Given the description of an element on the screen output the (x, y) to click on. 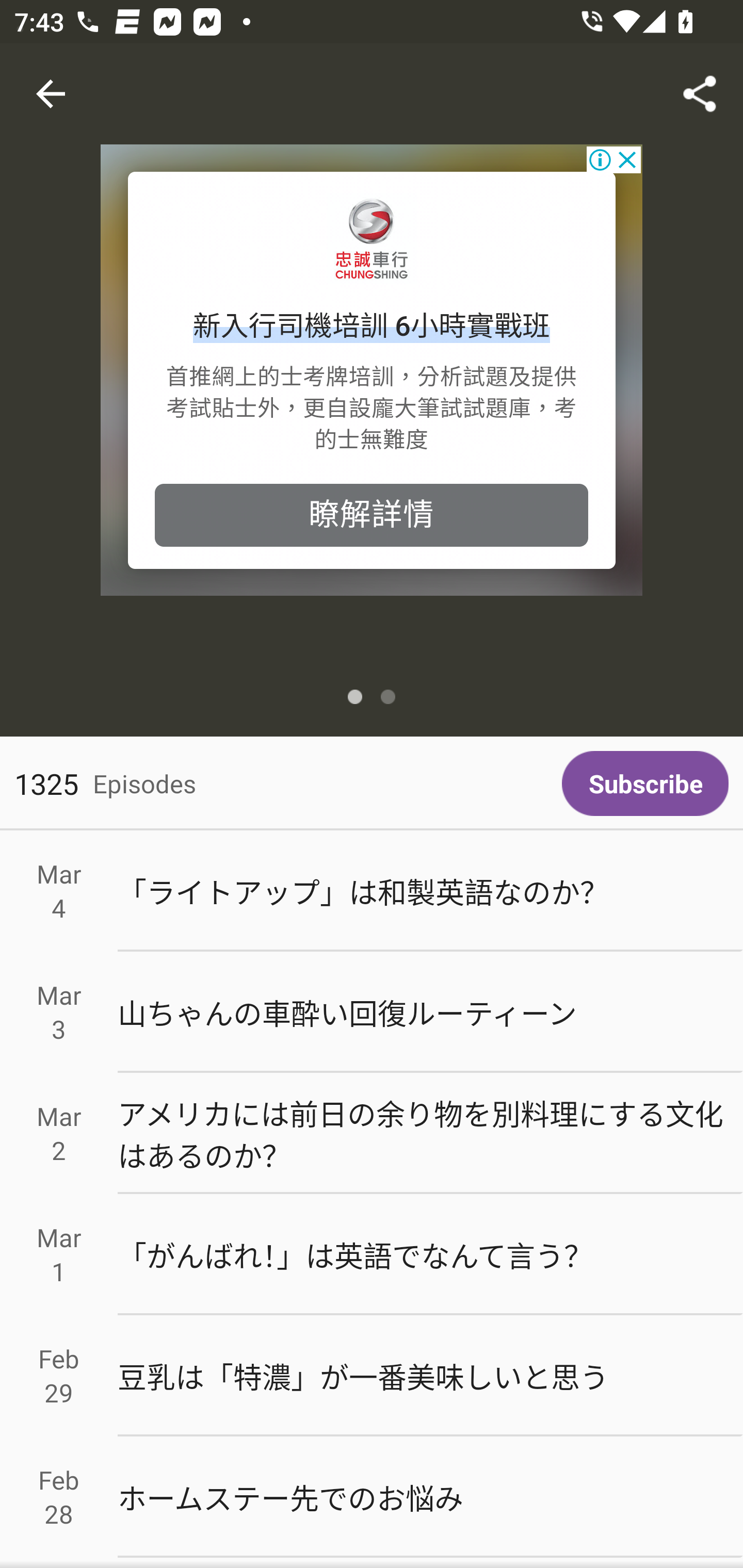
Navigate up (50, 93)
Share... (699, 93)
新入行司機培訓 6小時實戰班 (371, 327)
瞭解詳情 (371, 514)
Subscribe (644, 783)
Mar 4 「ライトアップ」は和製英語なのか？ (371, 891)
Mar 3 山ちゃんの車酔い回復ルーティーン (371, 1011)
Mar 2 アメリカには前日の余り物を別料理にする文化はあるのか？ (371, 1133)
Mar 1 「がんばれ！」は英語でなんて言う？ (371, 1254)
Feb 29 豆乳は「特濃」が一番美味しいと思う (371, 1375)
Feb 28 ホームステー先でのお悩み (371, 1496)
